Given the description of an element on the screen output the (x, y) to click on. 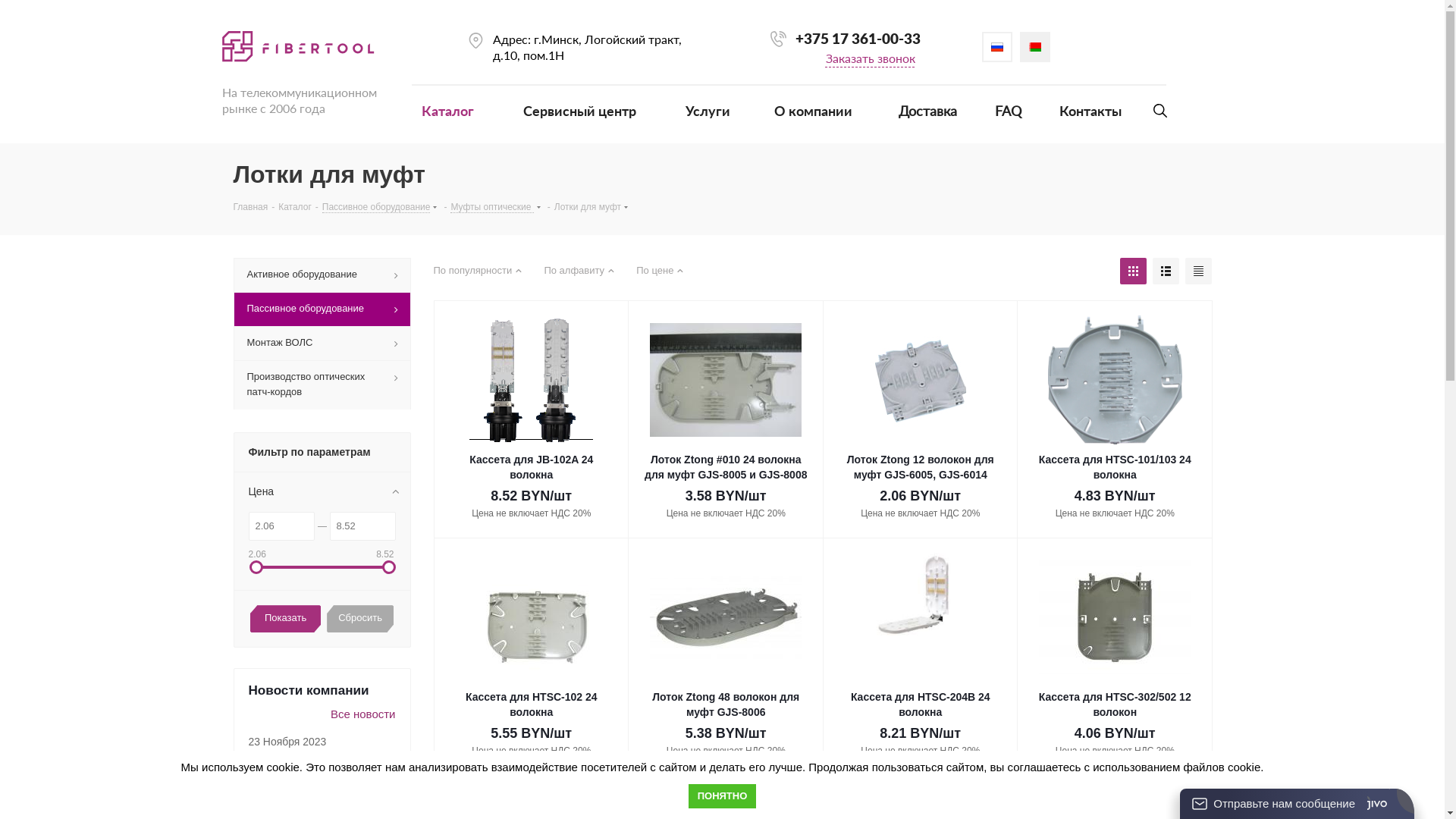
8005-8008-8010 Element type: hover (725, 379)
FAQ Element type: text (1007, 106)
+375 17 361-00-33 Element type: text (857, 37)
ru Element type: text (997, 46)
by Element type: text (1035, 46)
Ztong  Element type: hover (725, 616)
